Given the description of an element on the screen output the (x, y) to click on. 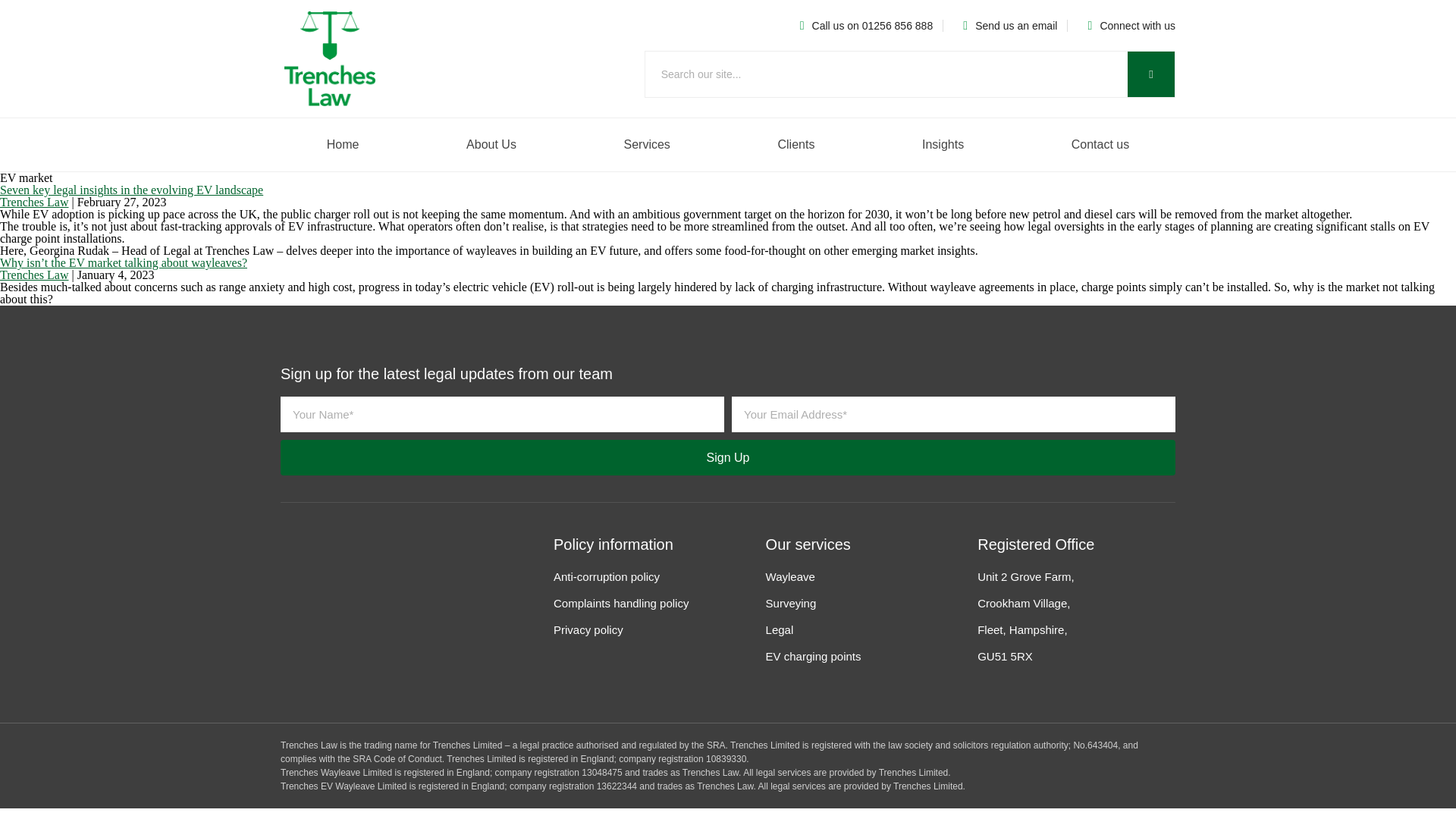
Services (646, 144)
Insights (942, 144)
About Us (490, 144)
Seven key legal insights in the evolving EV landscape (131, 189)
Clients (796, 144)
Posts by Trenches Law (34, 201)
Home (342, 144)
Posts by Trenches Law (34, 274)
Connect with us (1125, 25)
Send us an email (1004, 25)
Contact us (1099, 144)
